Given the description of an element on the screen output the (x, y) to click on. 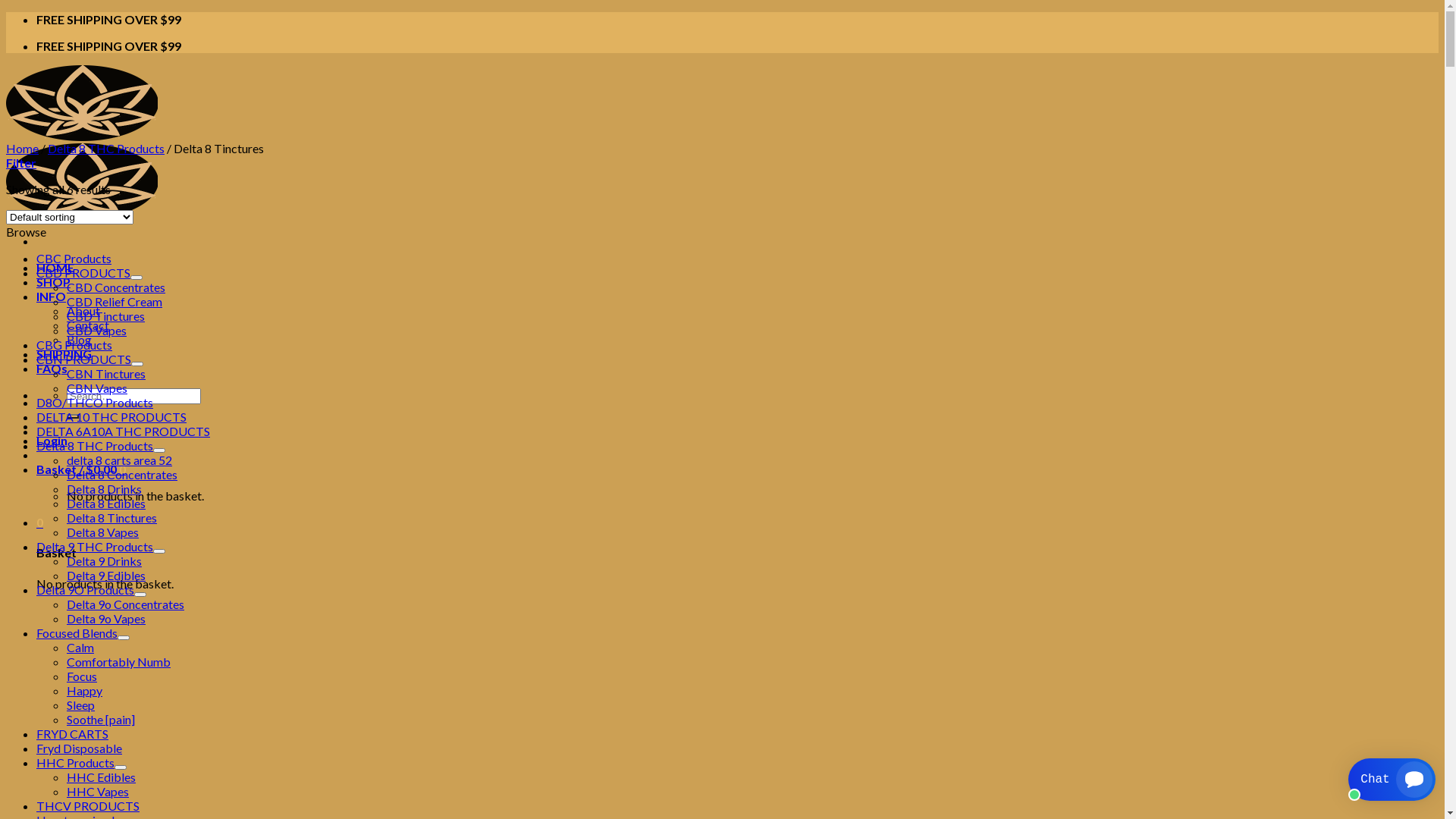
Comfortably Numb Element type: text (118, 661)
CBD Vapes Element type: text (96, 330)
Basket / $0.00 0 Element type: text (80, 468)
Sleep Element type: text (80, 704)
Calm Element type: text (80, 647)
Delta 8 Concentrates Element type: text (121, 474)
CBD PRODUCTS Element type: text (83, 272)
Delta 8 THC Products Element type: text (105, 148)
CBC Products Element type: text (73, 258)
FRYD CARTS Element type: text (72, 733)
Delta 9O Products Element type: text (85, 589)
FAQs Element type: text (51, 367)
Delta 9o Vapes Element type: text (105, 618)
Focused Blends Element type: text (76, 632)
SHIPPING Element type: text (63, 353)
Filter Element type: text (21, 162)
Smartsupp widget button Element type: hover (1391, 779)
Fryd Disposable Element type: text (79, 747)
Delta 9 Edibles Element type: text (105, 574)
Blog Element type: text (78, 339)
CBD Tinctures Element type: text (105, 315)
Delta 9 Drinks Element type: text (103, 560)
0 Element type: text (39, 521)
Delta 8 Edibles Element type: text (105, 502)
HHC Products Element type: text (75, 762)
About Element type: text (83, 310)
delta 8 carts area 52 Element type: text (119, 459)
Delta 8 Drinks Element type: text (103, 488)
HHC Edibles Element type: text (100, 776)
DELTA 10 THC PRODUCTS Element type: text (111, 416)
Delta 9 THC Products Element type: text (94, 546)
Search Element type: text (72, 416)
Soothe [pain] Element type: text (100, 719)
CBN Tinctures Element type: text (105, 373)
DELTA 6A10A THC PRODUCTS Element type: text (123, 430)
Focus Element type: text (81, 675)
Happy Element type: text (84, 690)
Delta 8 Tinctures Element type: text (111, 517)
D8O/THCO Products Element type: text (94, 402)
Contact Element type: text (87, 324)
Delta 8 THC Products Element type: text (94, 445)
3chiofficialz.com Element type: hover (81, 174)
SHOP Element type: text (53, 281)
Delta 8 Vapes Element type: text (102, 531)
Home Element type: text (22, 148)
CBG Products Element type: text (74, 344)
HOME Element type: text (55, 267)
HHC Vapes Element type: text (97, 791)
INFO Element type: text (50, 295)
CBD Relief Cream Element type: text (114, 301)
CBN Vapes Element type: text (96, 387)
CBD Concentrates Element type: text (115, 286)
THCV PRODUCTS Element type: text (87, 805)
Skip to content Element type: text (5, 11)
Delta 9o Concentrates Element type: text (125, 603)
Login Element type: text (51, 440)
CBN PRODUCTS Element type: text (83, 358)
